Given the description of an element on the screen output the (x, y) to click on. 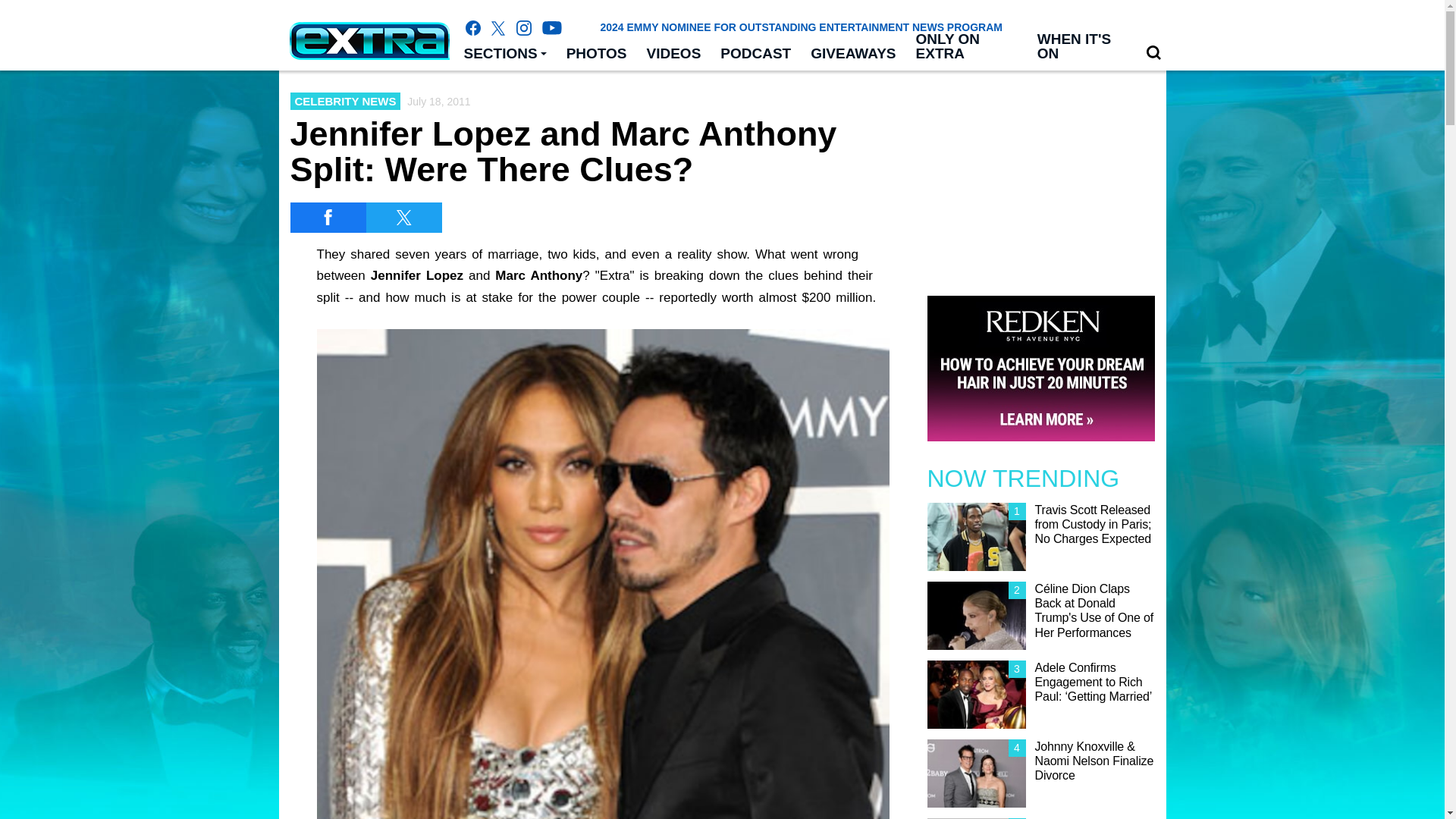
PODCAST (755, 54)
ONLY ON EXTRA (966, 47)
GIVEAWAYS (852, 54)
VIDEOS (674, 54)
Search (1153, 52)
3rd party ad content (1040, 176)
3rd party ad content (721, 785)
CELEBRITY NEWS (344, 100)
Search (1153, 53)
PHOTOS (596, 54)
